Given the description of an element on the screen output the (x, y) to click on. 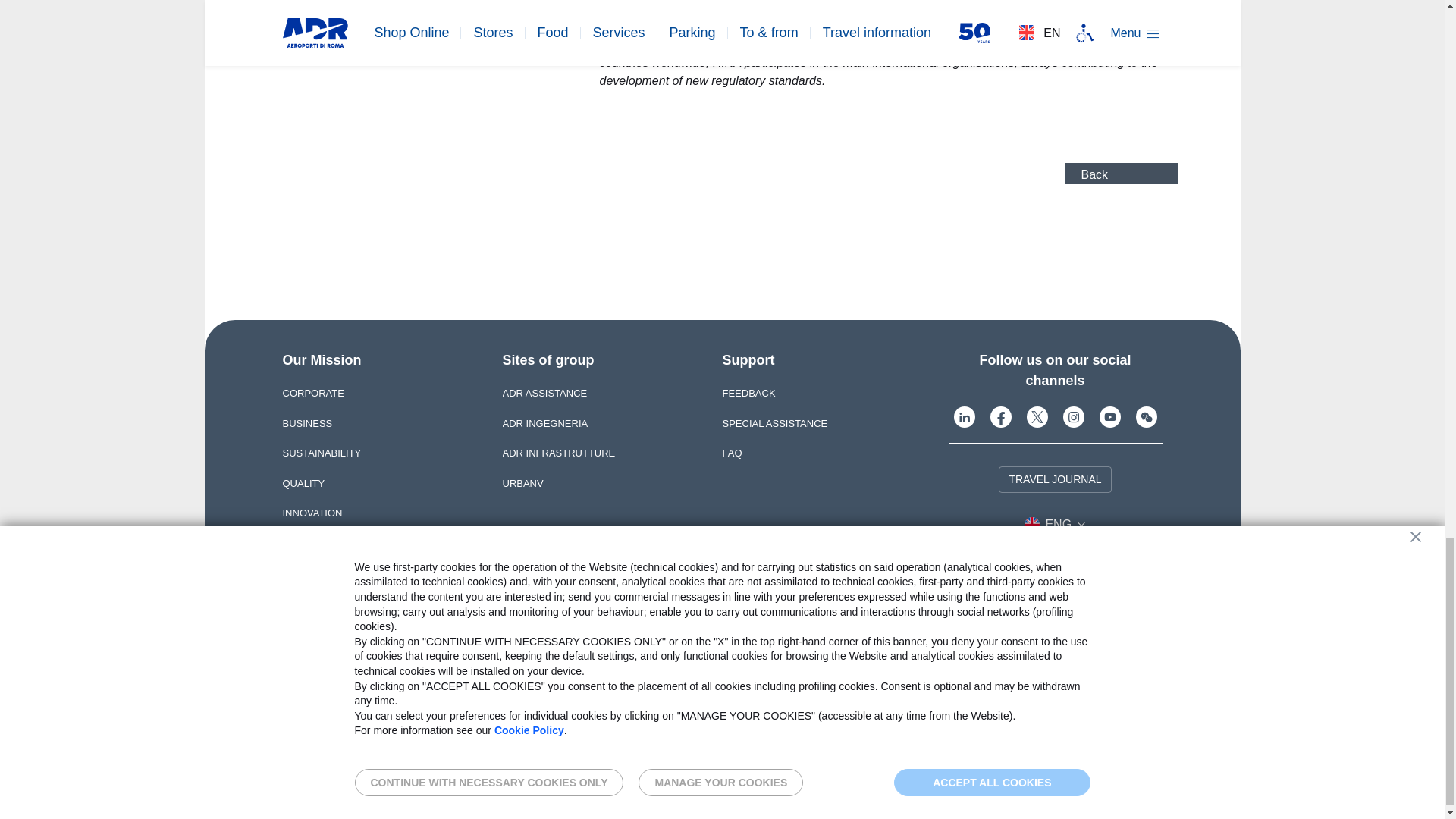
Sesar (1110, 725)
Best european Airport 2022 (915, 725)
Travel Journal (1054, 479)
5 star airport - skytrax (839, 725)
ASQ 2023 - winner (876, 725)
UNWTO (986, 725)
